Given the description of an element on the screen output the (x, y) to click on. 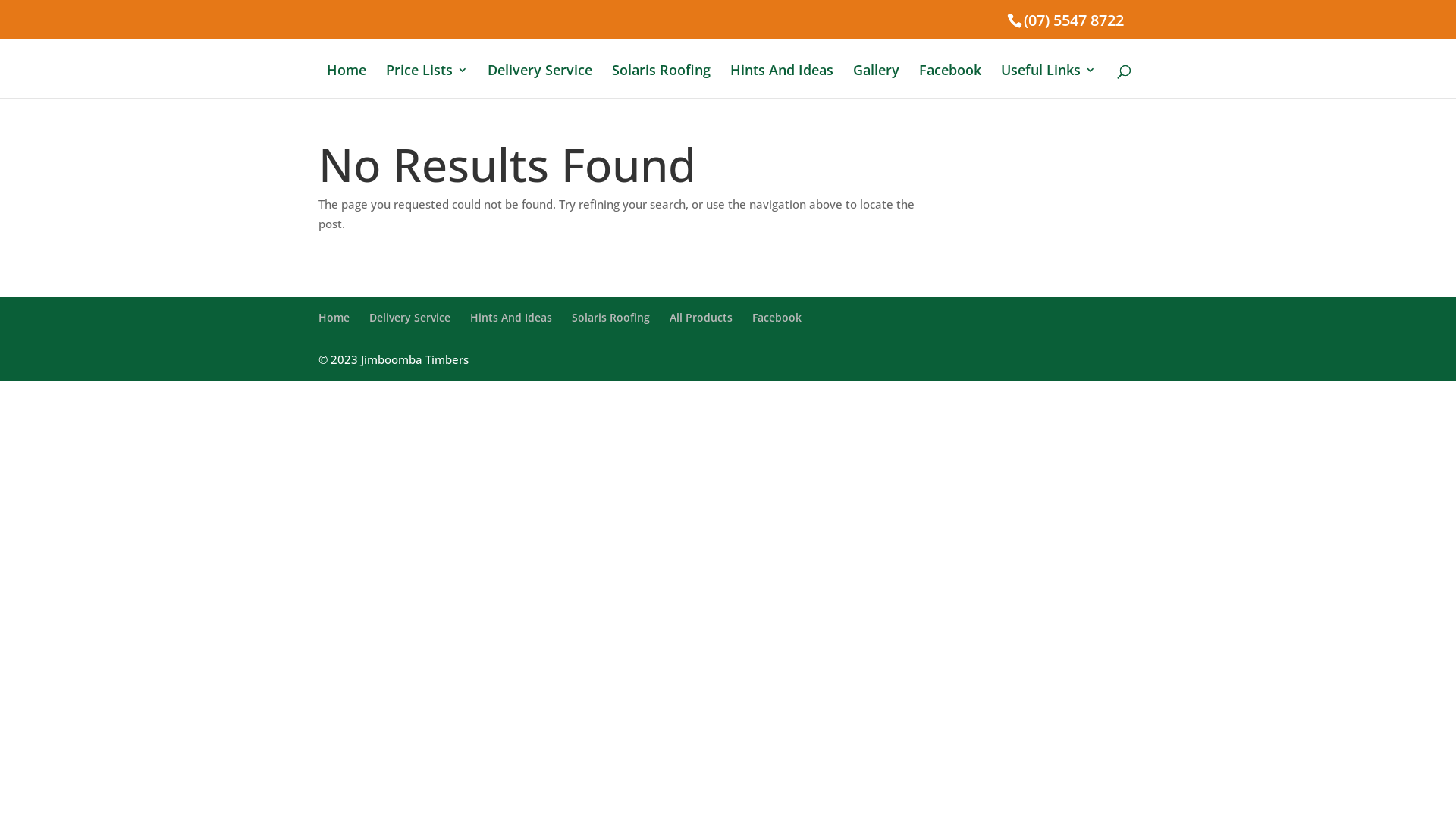
Gallery Element type: text (876, 80)
(07) 5547 8722 Element type: text (1073, 19)
Hints And Ideas Element type: text (511, 317)
Delivery Service Element type: text (409, 317)
Price Lists Element type: text (426, 80)
Facebook Element type: text (776, 317)
Home Element type: text (346, 80)
Useful Links Element type: text (1048, 80)
Solaris Roofing Element type: text (660, 80)
All Products Element type: text (700, 317)
Solaris Roofing Element type: text (610, 317)
Hints And Ideas Element type: text (781, 80)
Facebook Element type: text (950, 80)
Home Element type: text (333, 317)
Delivery Service Element type: text (539, 80)
